Given the description of an element on the screen output the (x, y) to click on. 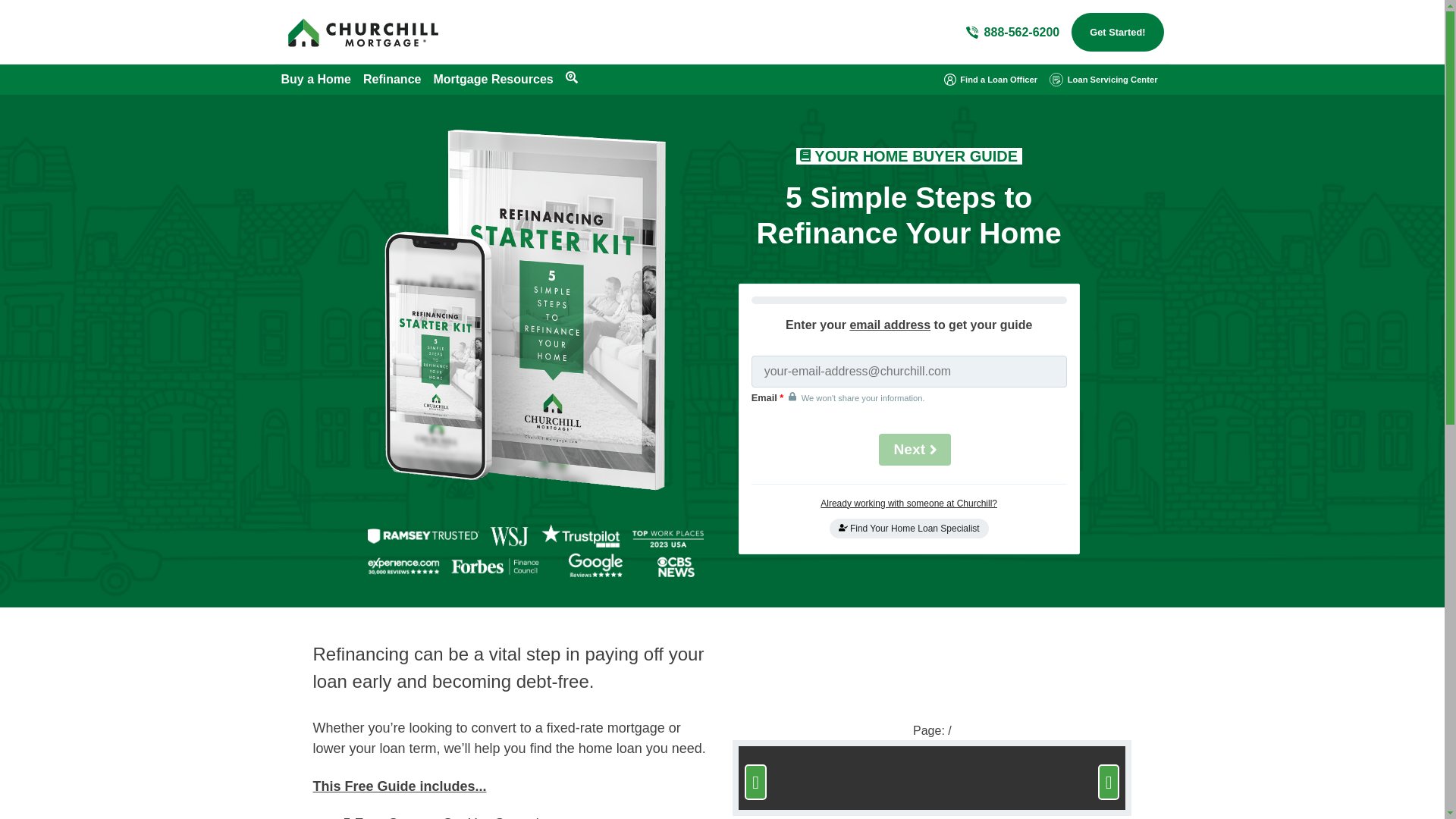
Find a Loan Officer (990, 79)
2022-Social-Proof-Banner-White-Stacked (535, 551)
search-location (572, 77)
Get Started! (1117, 32)
Refinance (391, 78)
888-562-6200 (1012, 32)
Mortgage Resources (492, 78)
Loan Servicing Center (1103, 79)
Buy a Home (315, 78)
Next (914, 449)
